Given the description of an element on the screen output the (x, y) to click on. 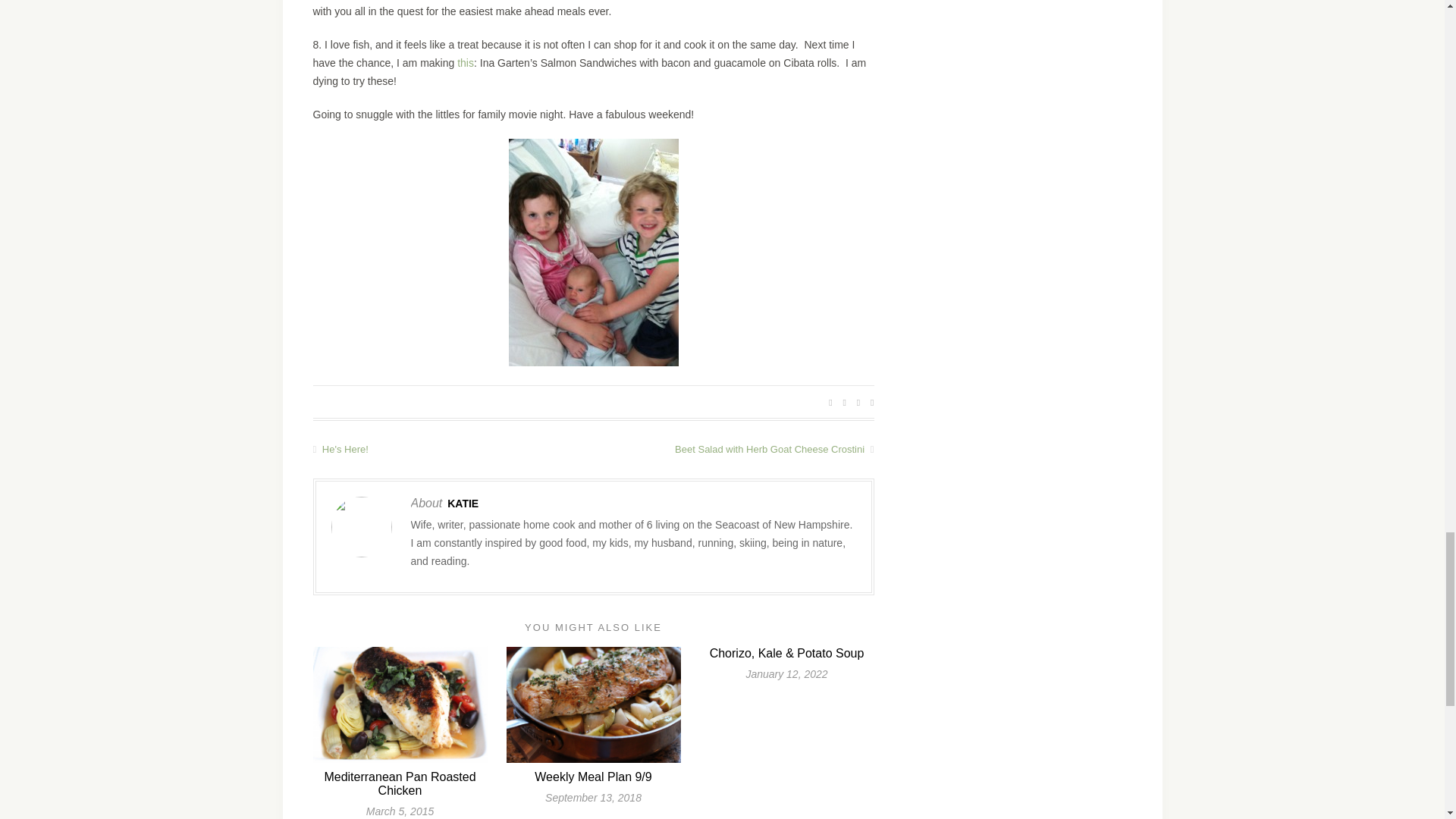
Mediterranean Pan Roasted Chicken (399, 783)
this (465, 62)
He's Here! (452, 449)
Beet Salad with Herb Goat Cheese Crostini (732, 449)
Posts by Katie (462, 503)
KATIE (462, 503)
